Given the description of an element on the screen output the (x, y) to click on. 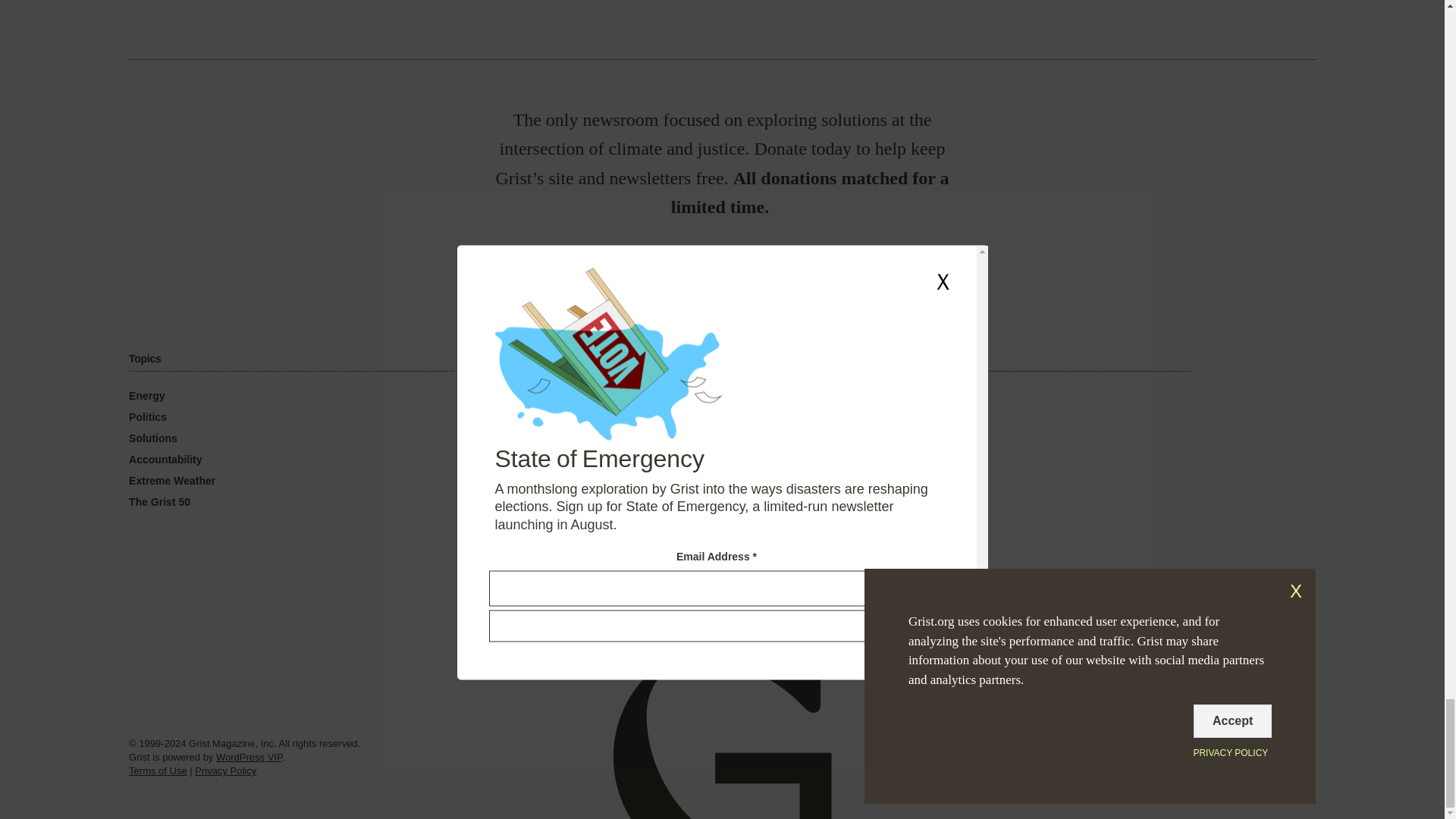
More (879, 358)
Company (520, 358)
Topics (144, 358)
